Given the description of an element on the screen output the (x, y) to click on. 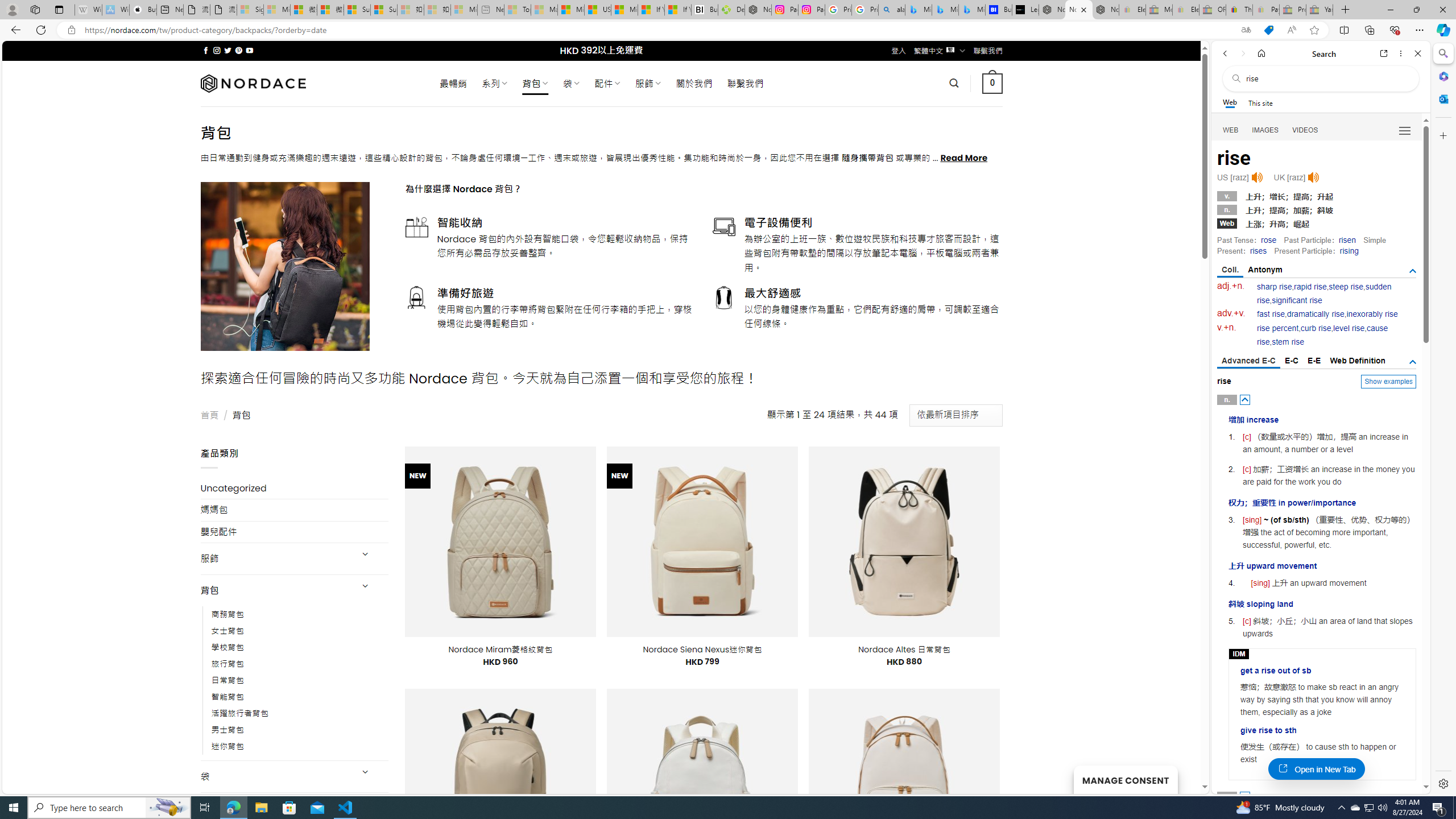
significant rise (1296, 300)
Click to listen (1313, 177)
sudden rise (1323, 293)
Class: b_serphb (1404, 130)
dramatically rise (1315, 313)
rapid rise (1310, 286)
rose (1268, 239)
risen (1347, 239)
